Given the description of an element on the screen output the (x, y) to click on. 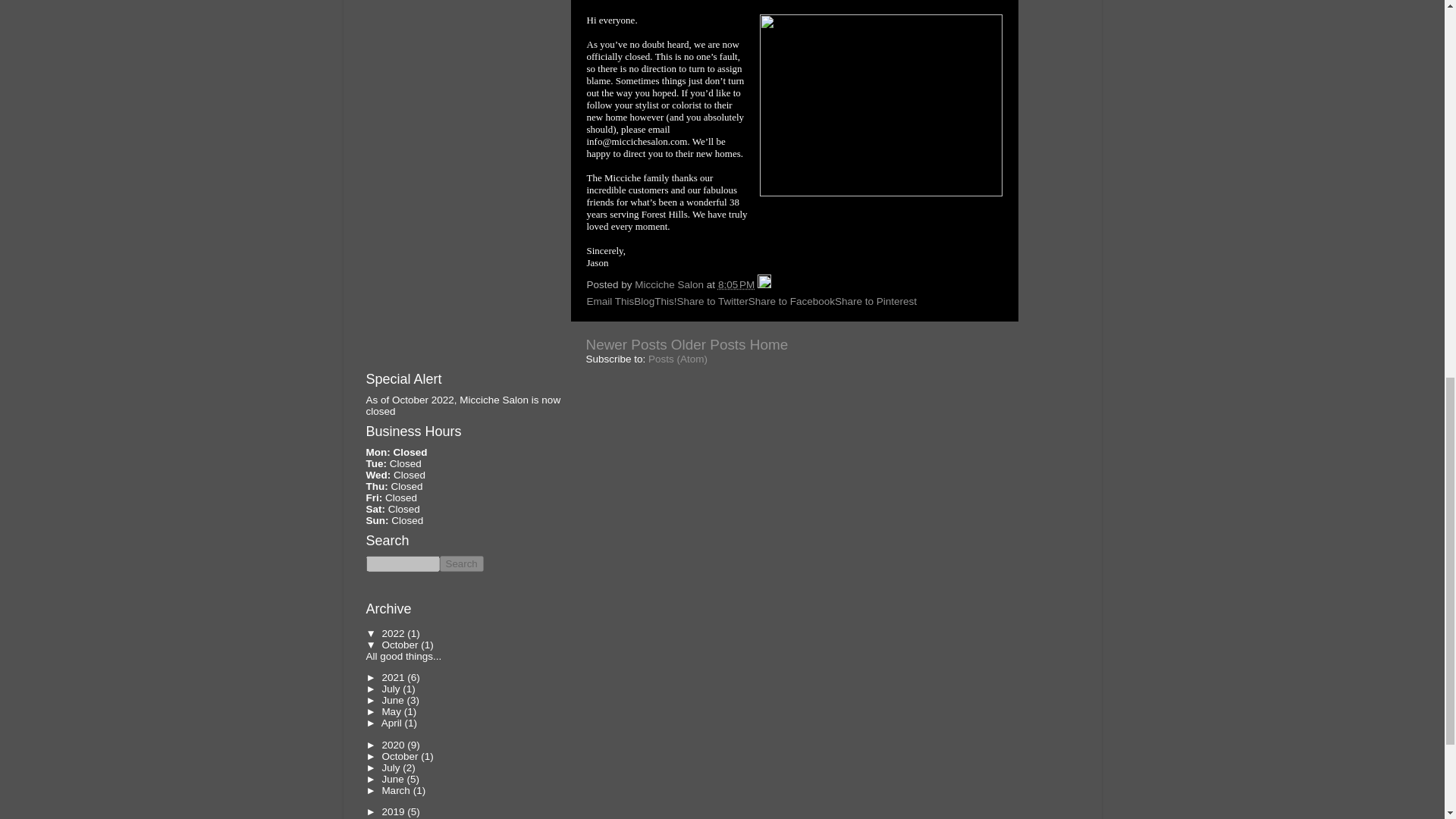
October (400, 644)
All good things... (403, 655)
Email This (610, 301)
2021 (394, 677)
author profile (670, 284)
Edit Post (764, 284)
2022 (394, 633)
Older Posts (708, 344)
Share to Twitter (712, 301)
BlogThis! (655, 301)
Older Posts (708, 344)
May (392, 711)
Share to Facebook (791, 301)
Share to Facebook (791, 301)
April (392, 722)
